Given the description of an element on the screen output the (x, y) to click on. 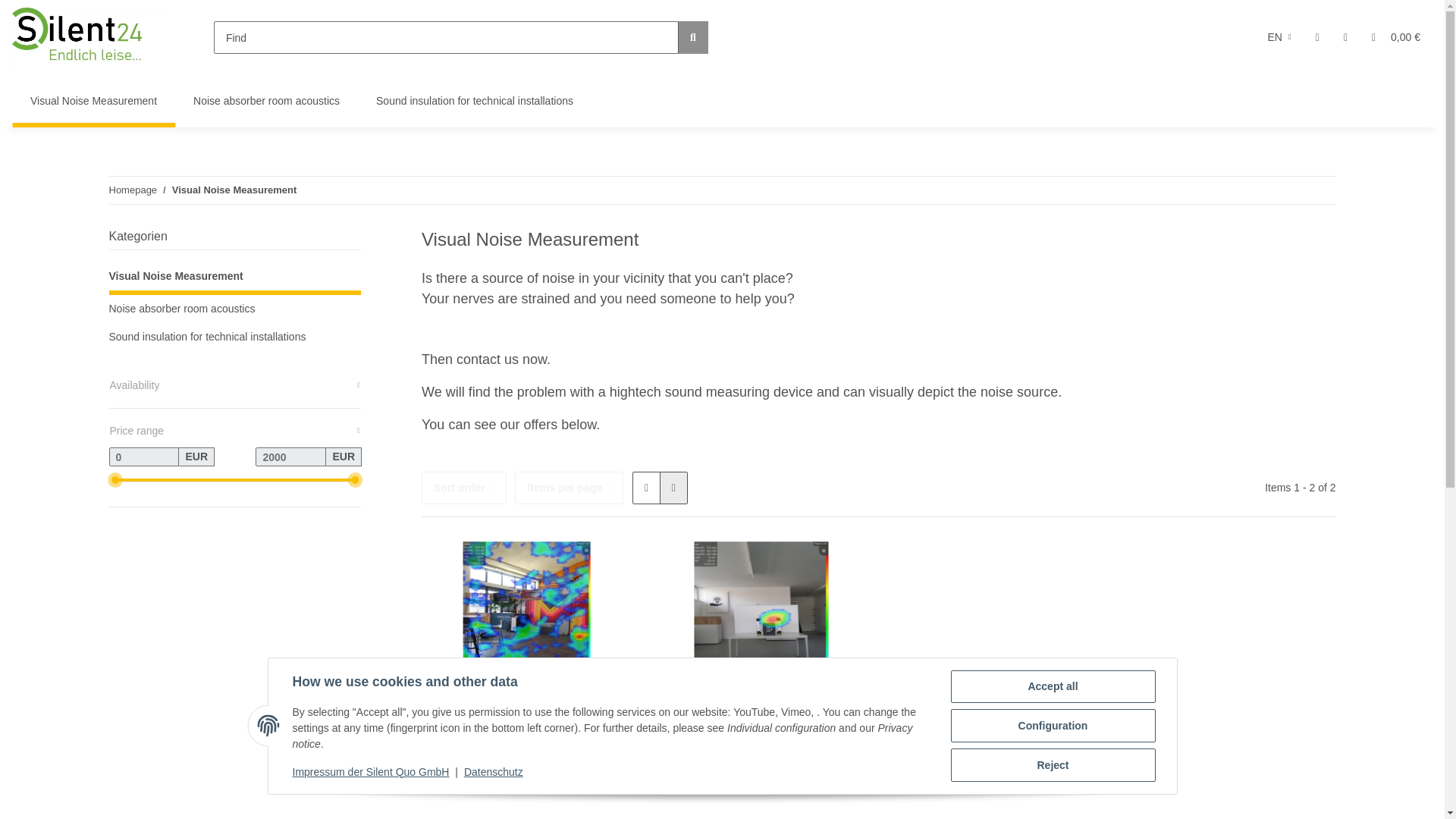
Noise absorber room acoustics (266, 101)
Visual Noise Measurement (92, 101)
Visual Noise Measurement (234, 190)
Sort order (464, 487)
Visual Noise Measurement (234, 190)
Sound insulation for technical installations (474, 101)
Noise absorber room acoustics (266, 101)
Visual Noise Measurement (92, 101)
Visual Noise Measurement (92, 101)
Noise absorber room acoustics (266, 101)
Homepage (133, 190)
Sound insulation for technical installations (474, 101)
Homepage (133, 190)
